Given the description of an element on the screen output the (x, y) to click on. 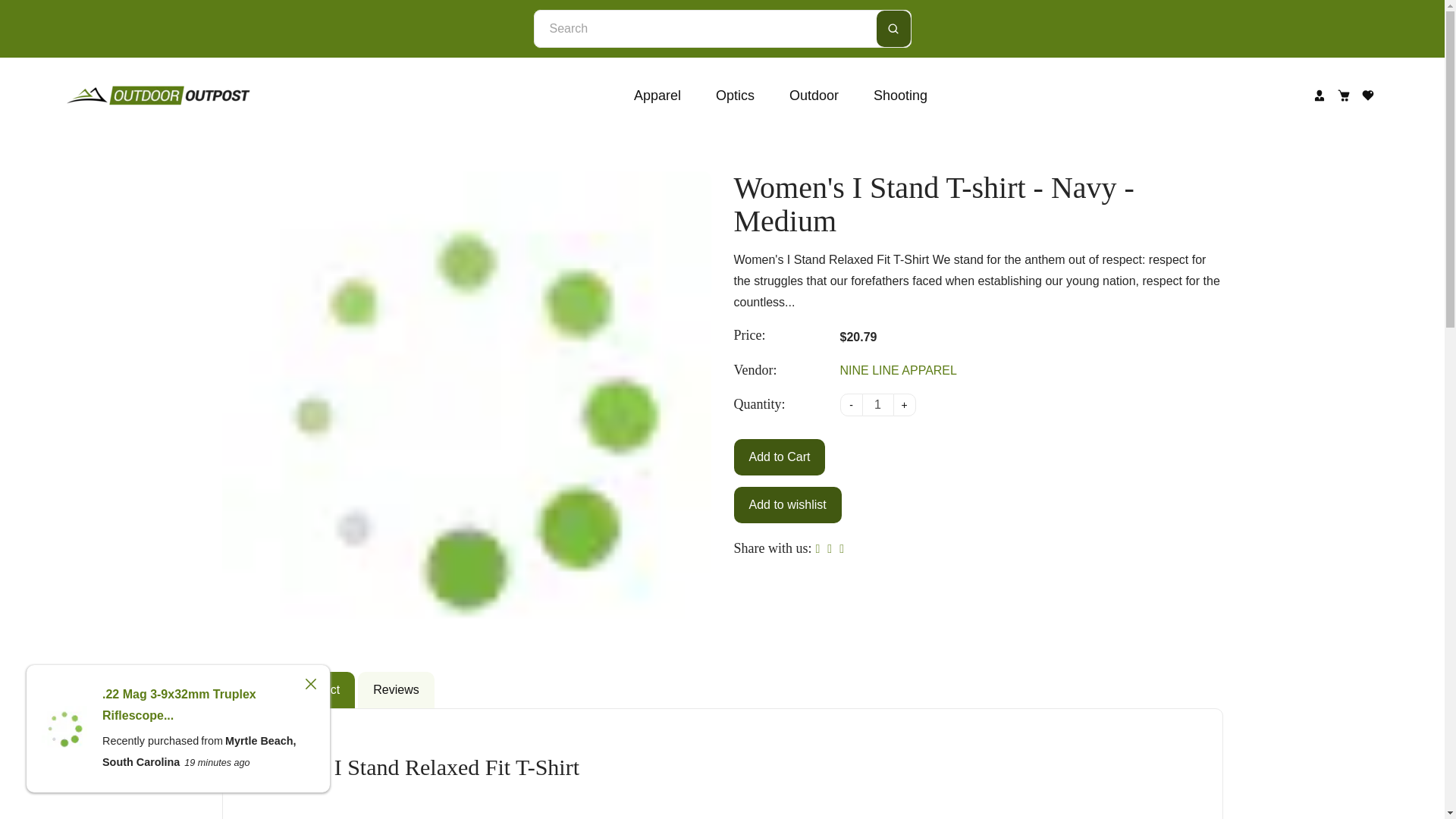
Optics (734, 95)
Apparel (657, 95)
NINE LINE APPAREL (898, 370)
Close (310, 683)
1 (878, 404)
